Given the description of an element on the screen output the (x, y) to click on. 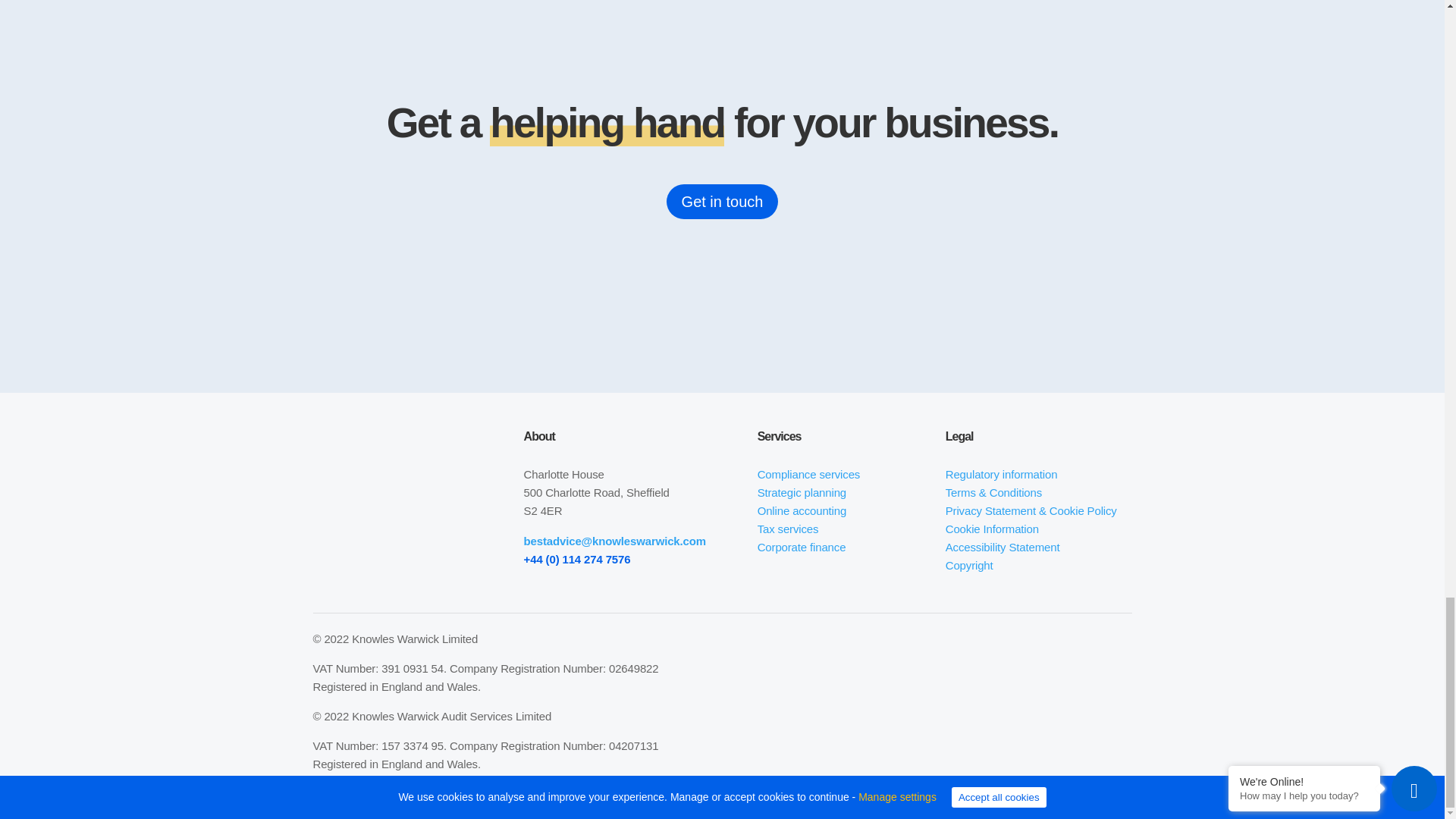
Email Knowles Warwick (615, 540)
